Given the description of an element on the screen output the (x, y) to click on. 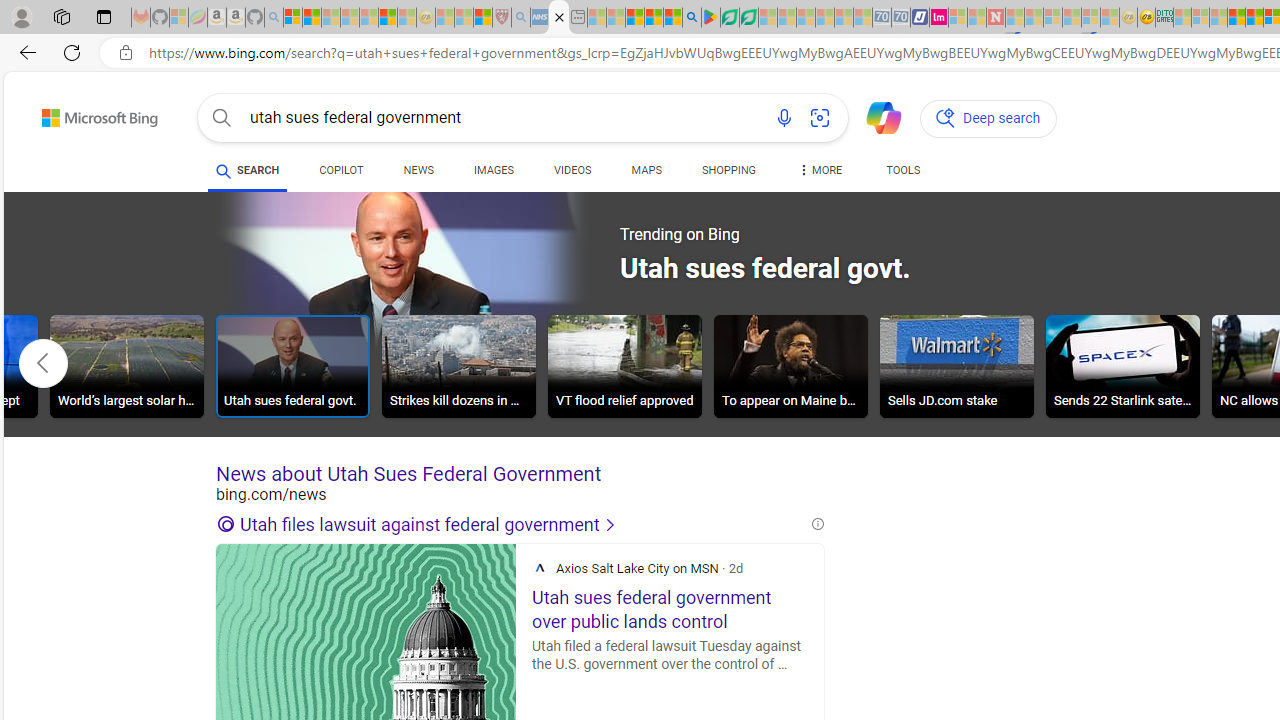
To appear on Maine ballot (790, 365)
SHOPPING (728, 173)
Search using an image (820, 117)
bing.com/news (520, 494)
SHOPPING (728, 170)
Trending on Bing Utah sues federal govt. (595, 272)
Click to scroll left (43, 362)
Jobs - lastminute.com Investor Portal (939, 17)
VT flood relief approved (624, 365)
